Given the description of an element on the screen output the (x, y) to click on. 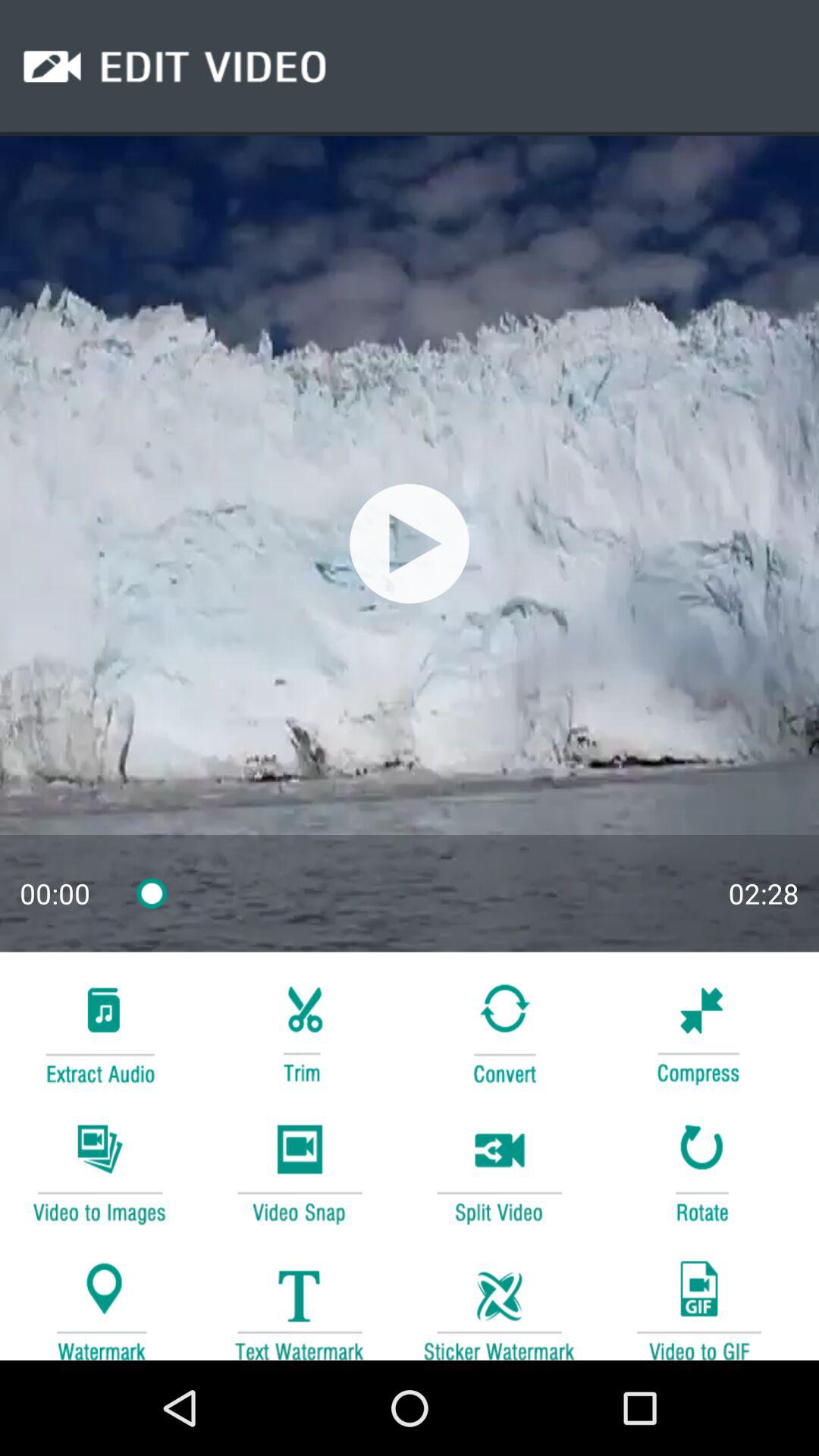
watermark (99, 1303)
